Given the description of an element on the screen output the (x, y) to click on. 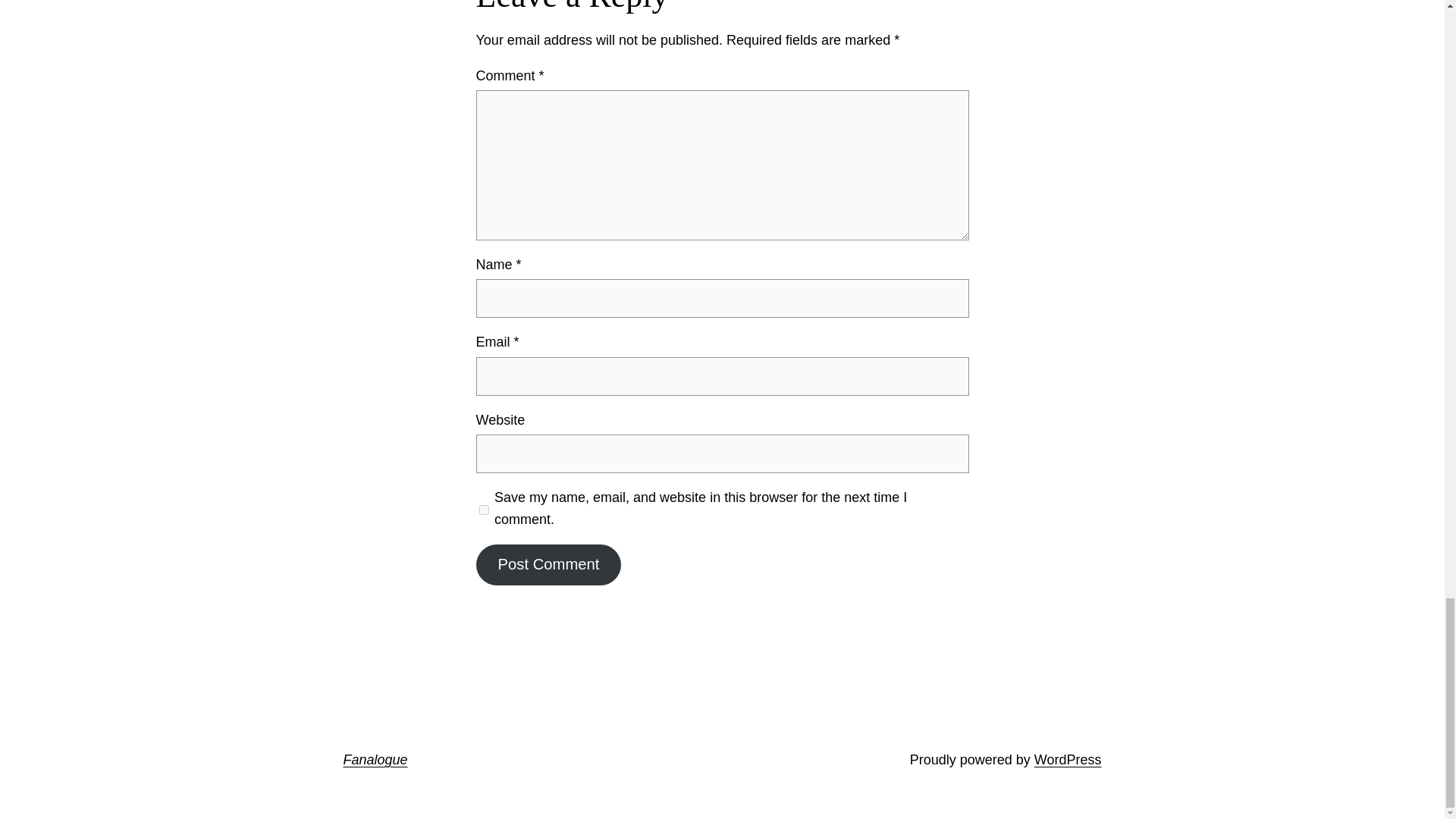
yes (484, 509)
Post Comment (548, 564)
Post Comment (548, 564)
Fanalogue (374, 759)
